Given the description of an element on the screen output the (x, y) to click on. 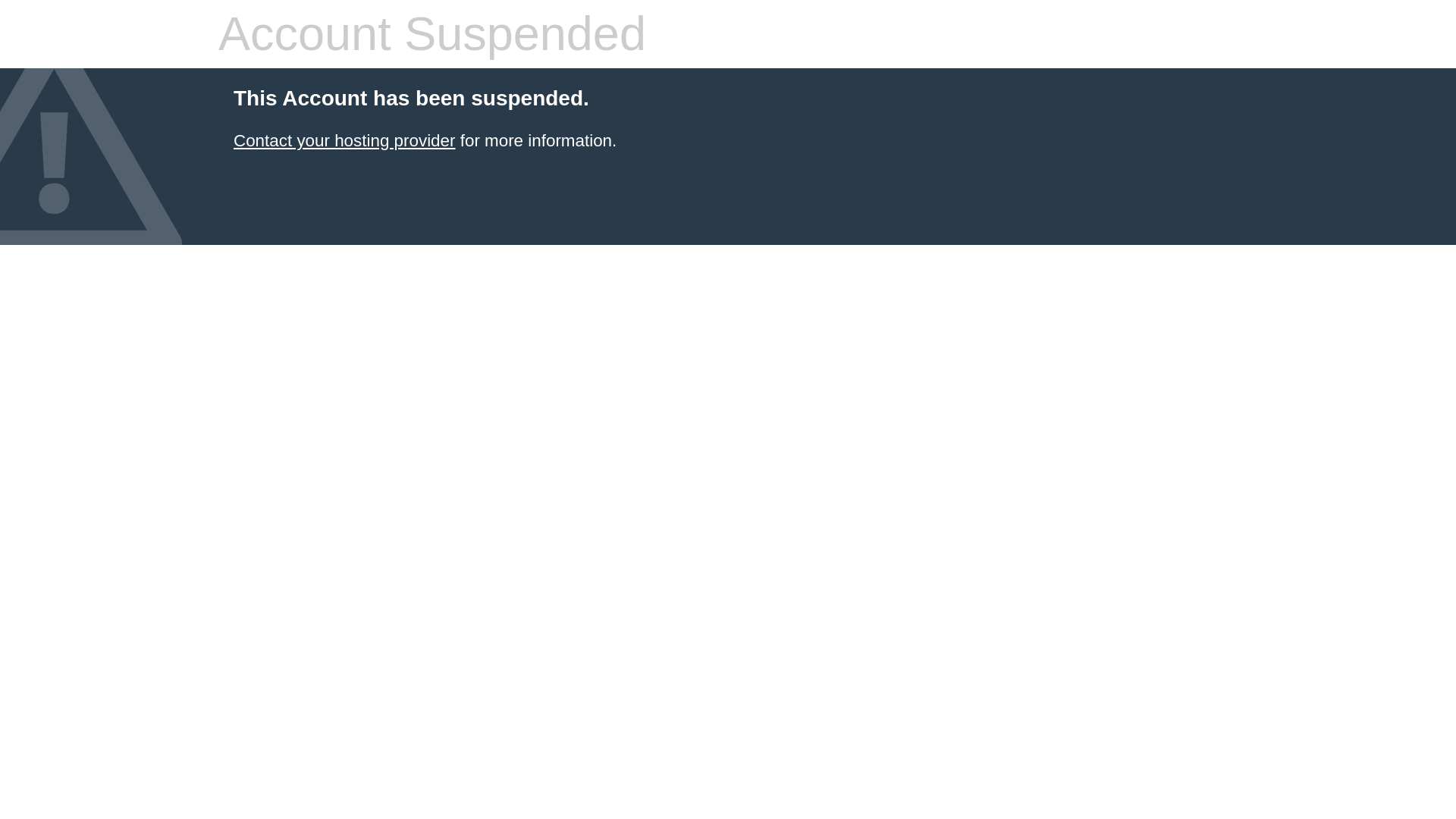
Contact your hosting provider (343, 140)
